Given the description of an element on the screen output the (x, y) to click on. 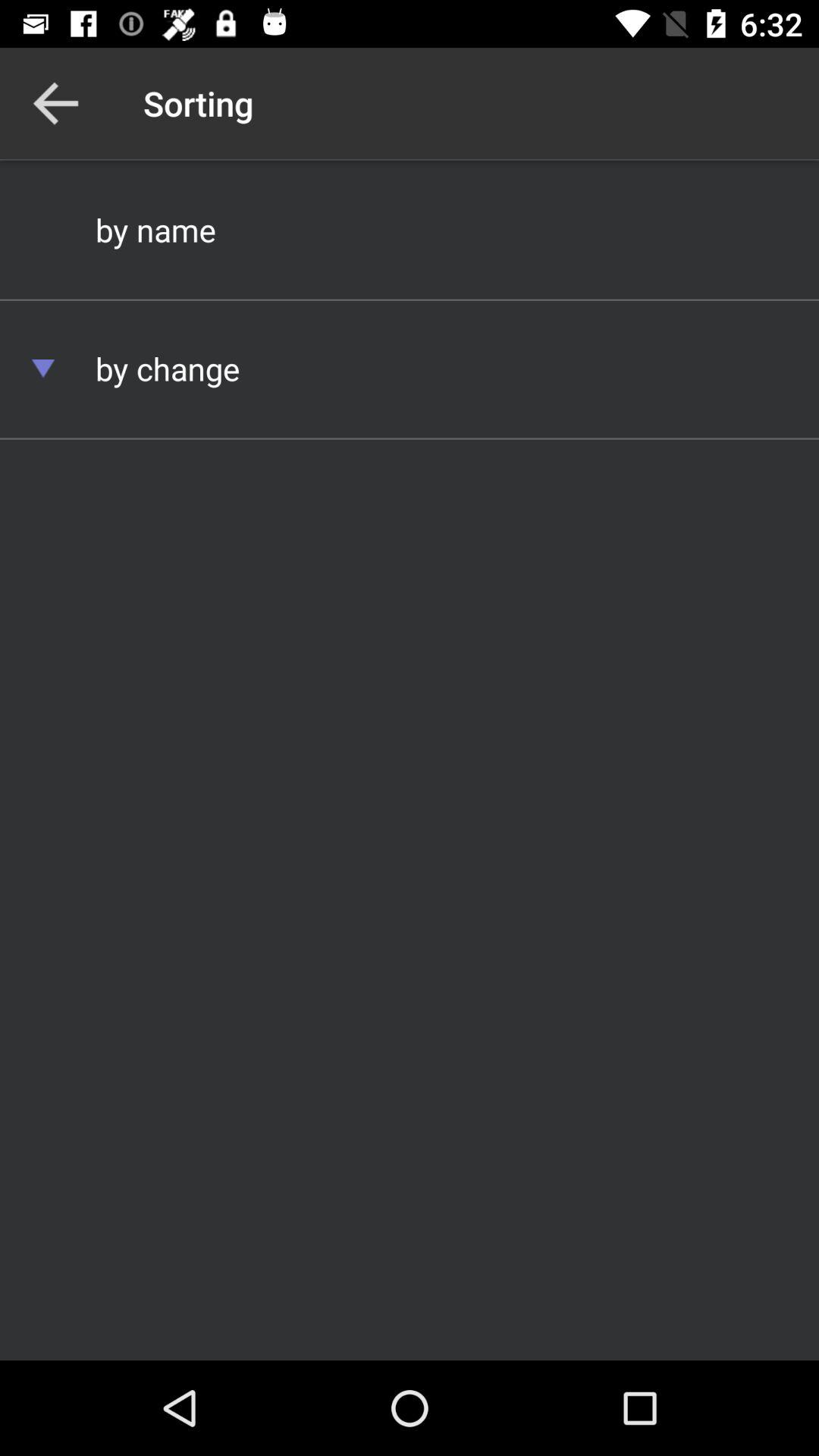
jump to the by change icon (409, 368)
